Given the description of an element on the screen output the (x, y) to click on. 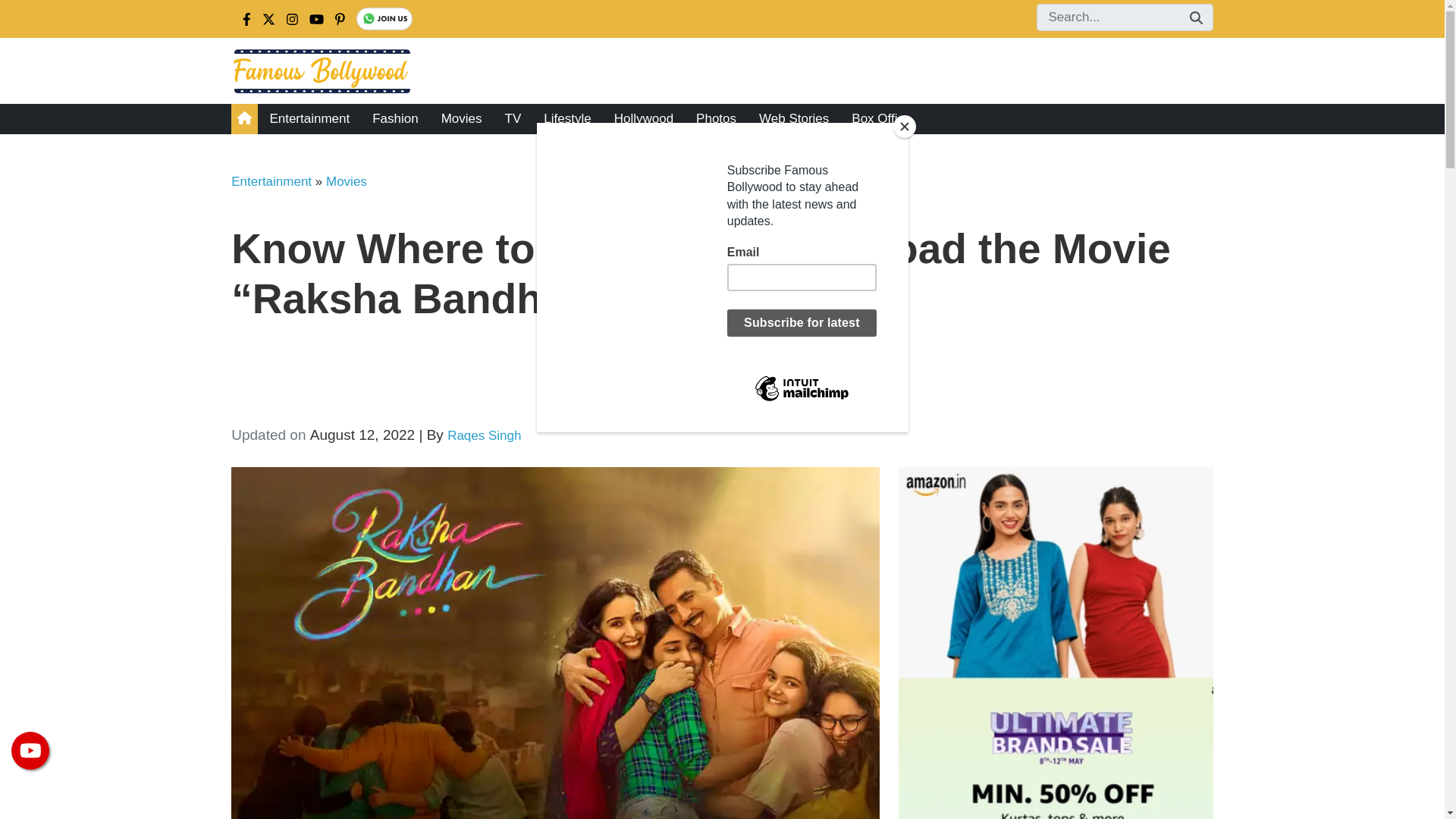
Advertisement (686, 377)
Lifestyle (567, 118)
Movies (461, 118)
Hollywood (643, 118)
Movies (346, 181)
Fashion (395, 118)
Entertainment (271, 181)
Raqes Singh (483, 435)
Photos (716, 118)
Web Stories (794, 118)
Entertainment (309, 118)
Search for: (1123, 17)
TV (512, 118)
Box Office (880, 118)
